Given the description of an element on the screen output the (x, y) to click on. 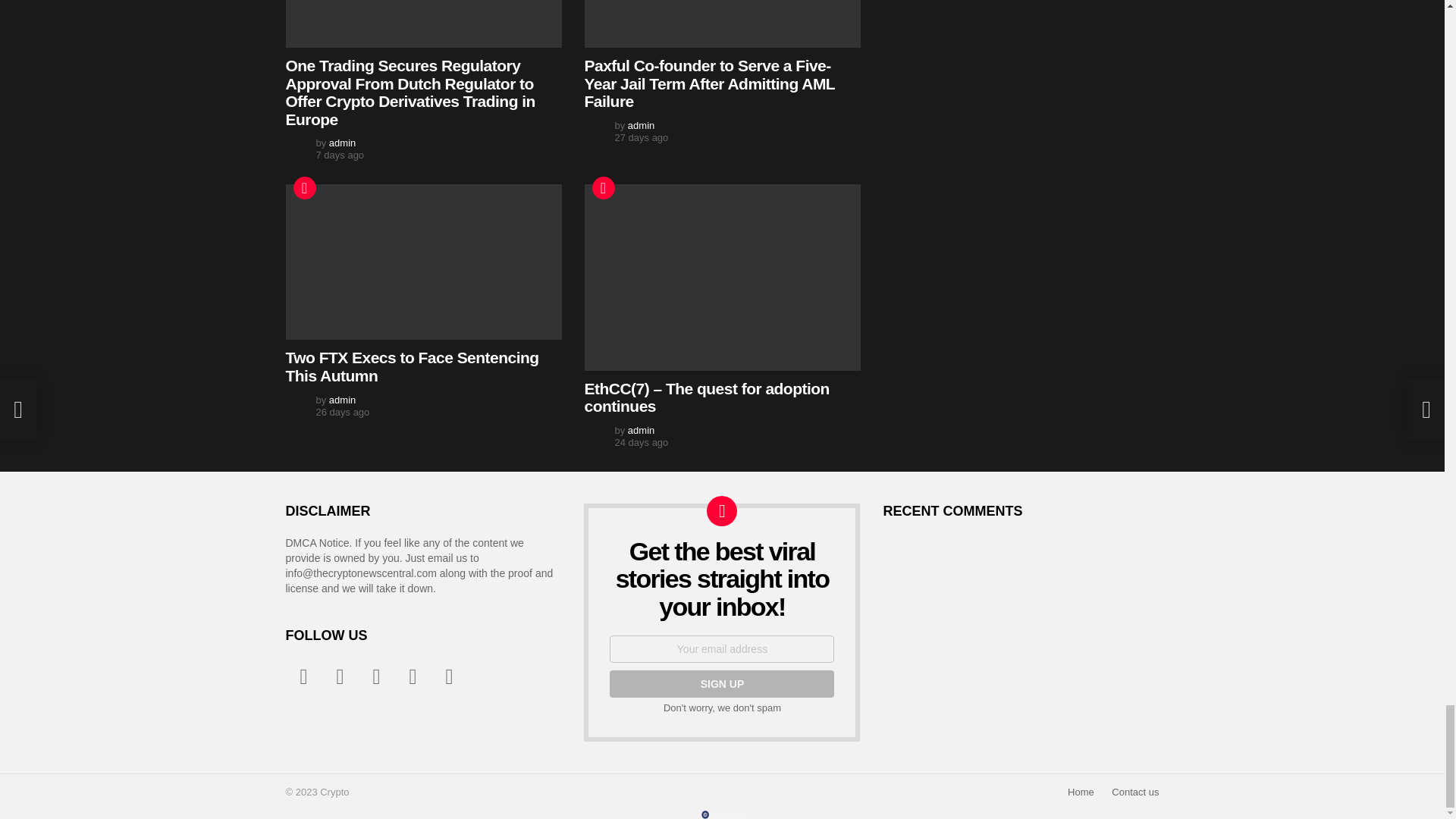
Sign up (722, 683)
